Given the description of an element on the screen output the (x, y) to click on. 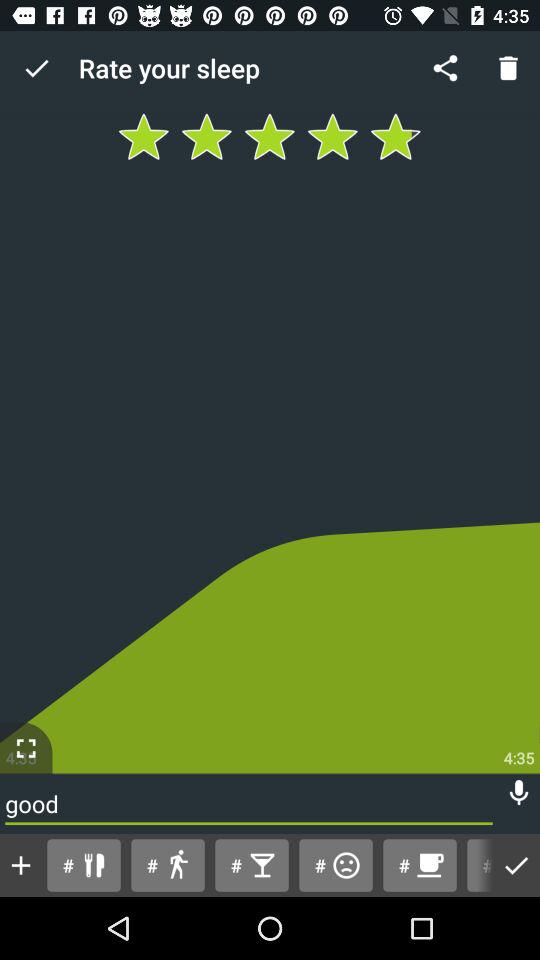
turn on button next to # item (419, 864)
